Given the description of an element on the screen output the (x, y) to click on. 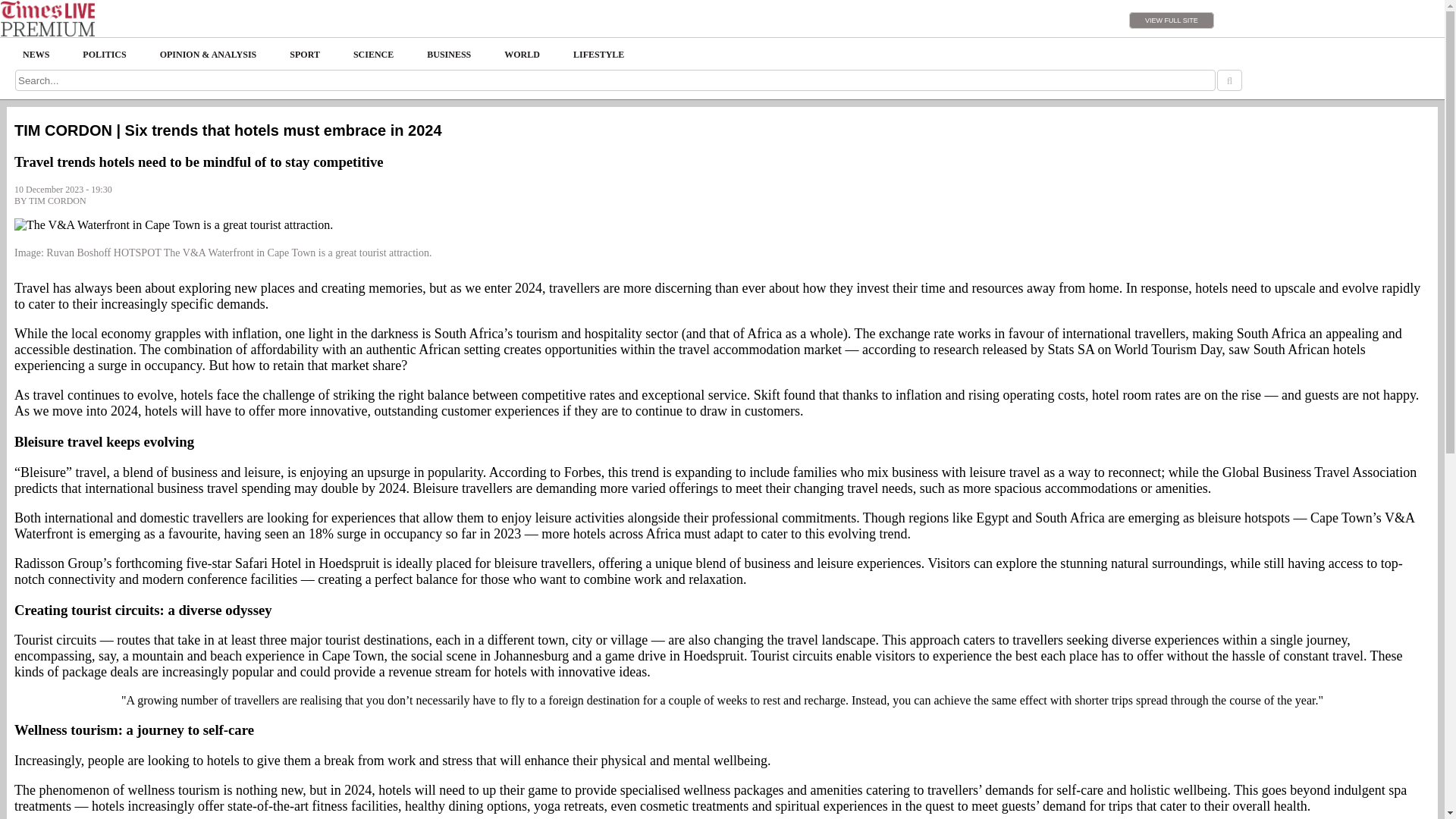
POLITICS (103, 54)
BUSINESS (449, 54)
NEWS (35, 54)
SPORT (304, 54)
VIEW FULL SITE (1171, 20)
search (1229, 79)
SCIENCE (373, 54)
WORLD (521, 54)
LIFESTYLE (598, 54)
